Given the description of an element on the screen output the (x, y) to click on. 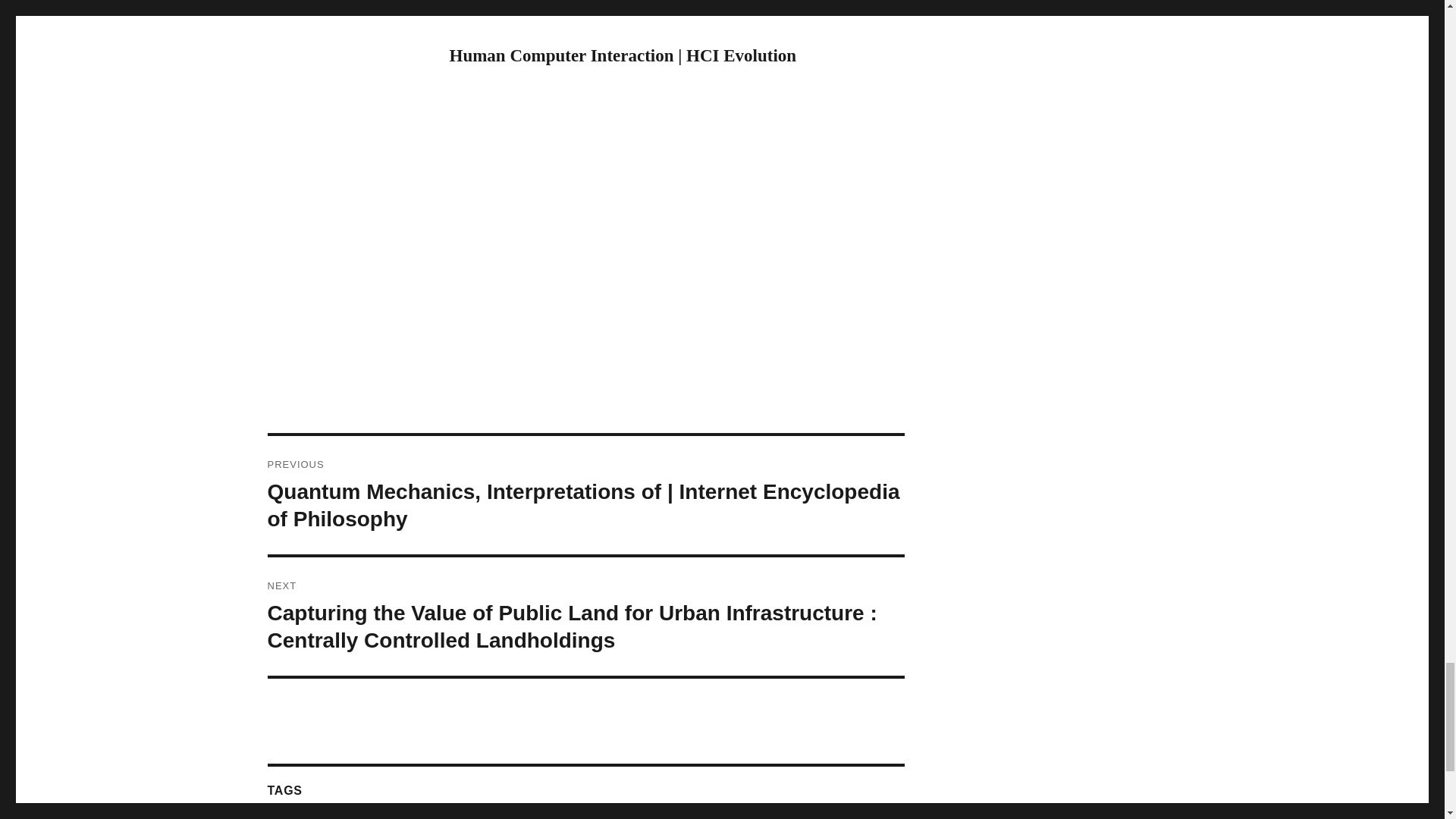
center (791, 816)
business (695, 816)
cellular (746, 816)
adjusting (345, 816)
complex (838, 816)
automaton (603, 816)
analysis (455, 816)
automata (544, 816)
advanced (401, 816)
